Given the description of an element on the screen output the (x, y) to click on. 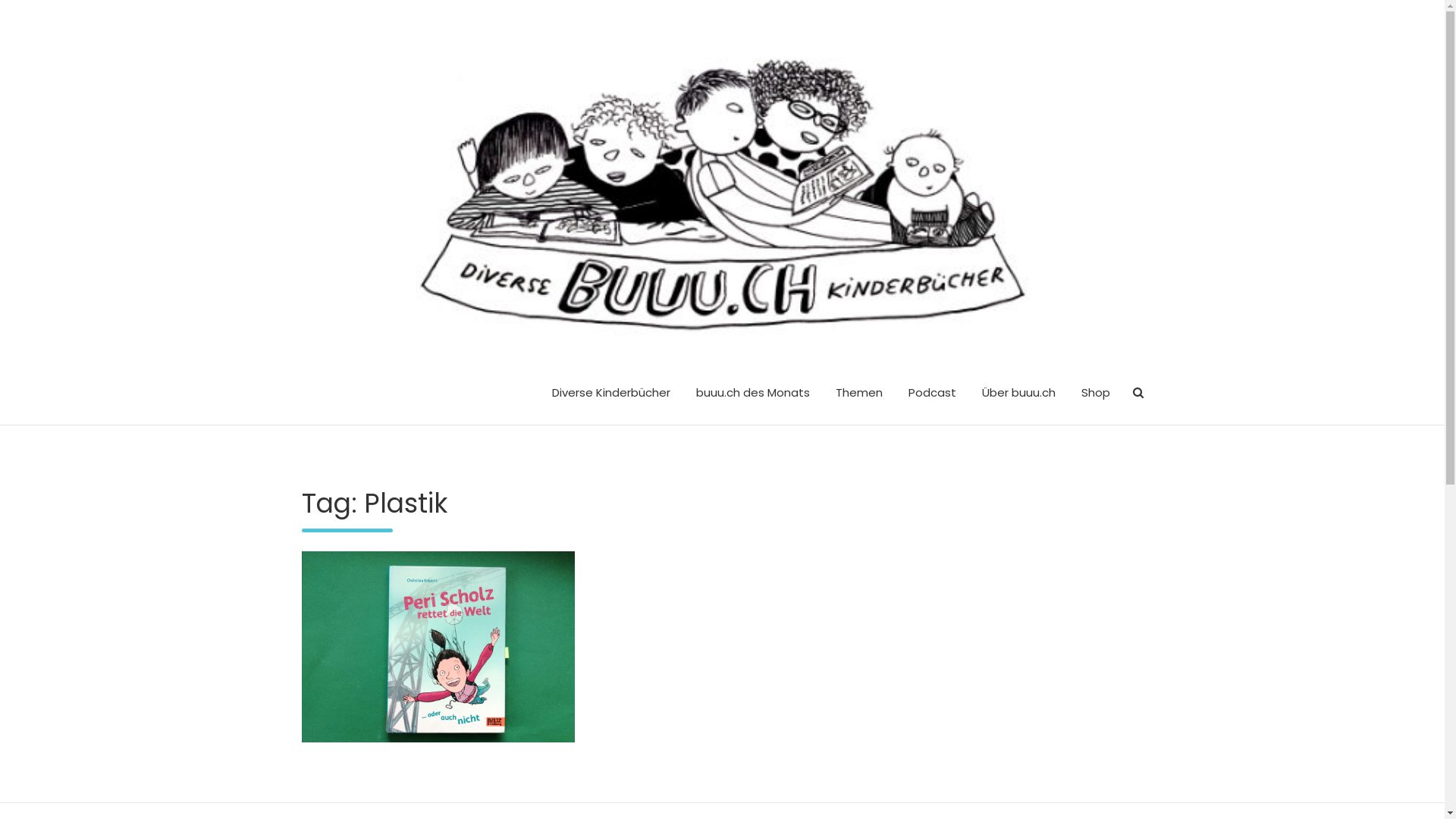
Themen Element type: text (858, 392)
buuu.ch Element type: text (339, 404)
Podcast Element type: text (931, 392)
buuu.ch des Monats Element type: text (752, 392)
Shop Element type: text (1094, 392)
